Given the description of an element on the screen output the (x, y) to click on. 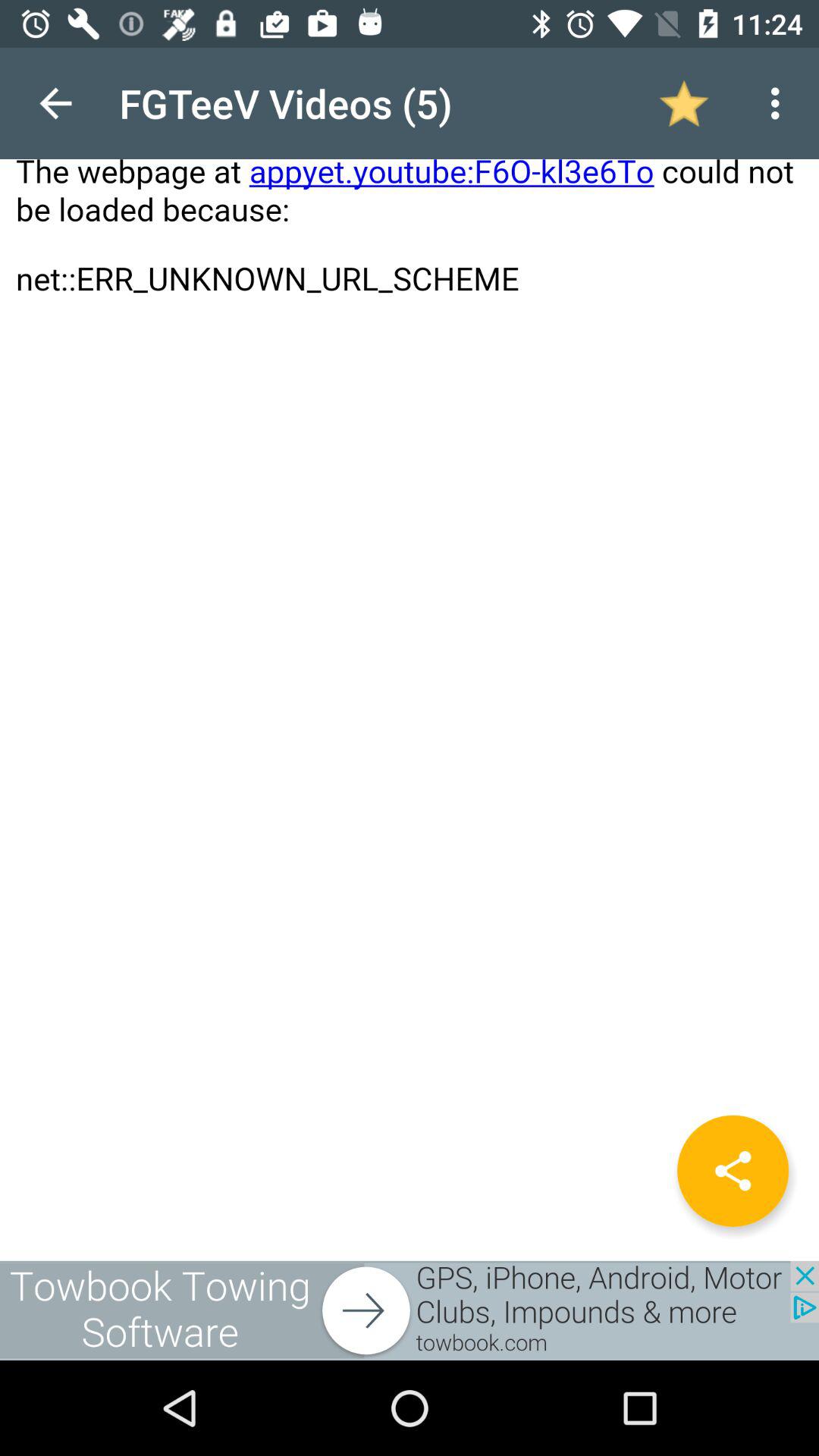
page with error (409, 653)
